Given the description of an element on the screen output the (x, y) to click on. 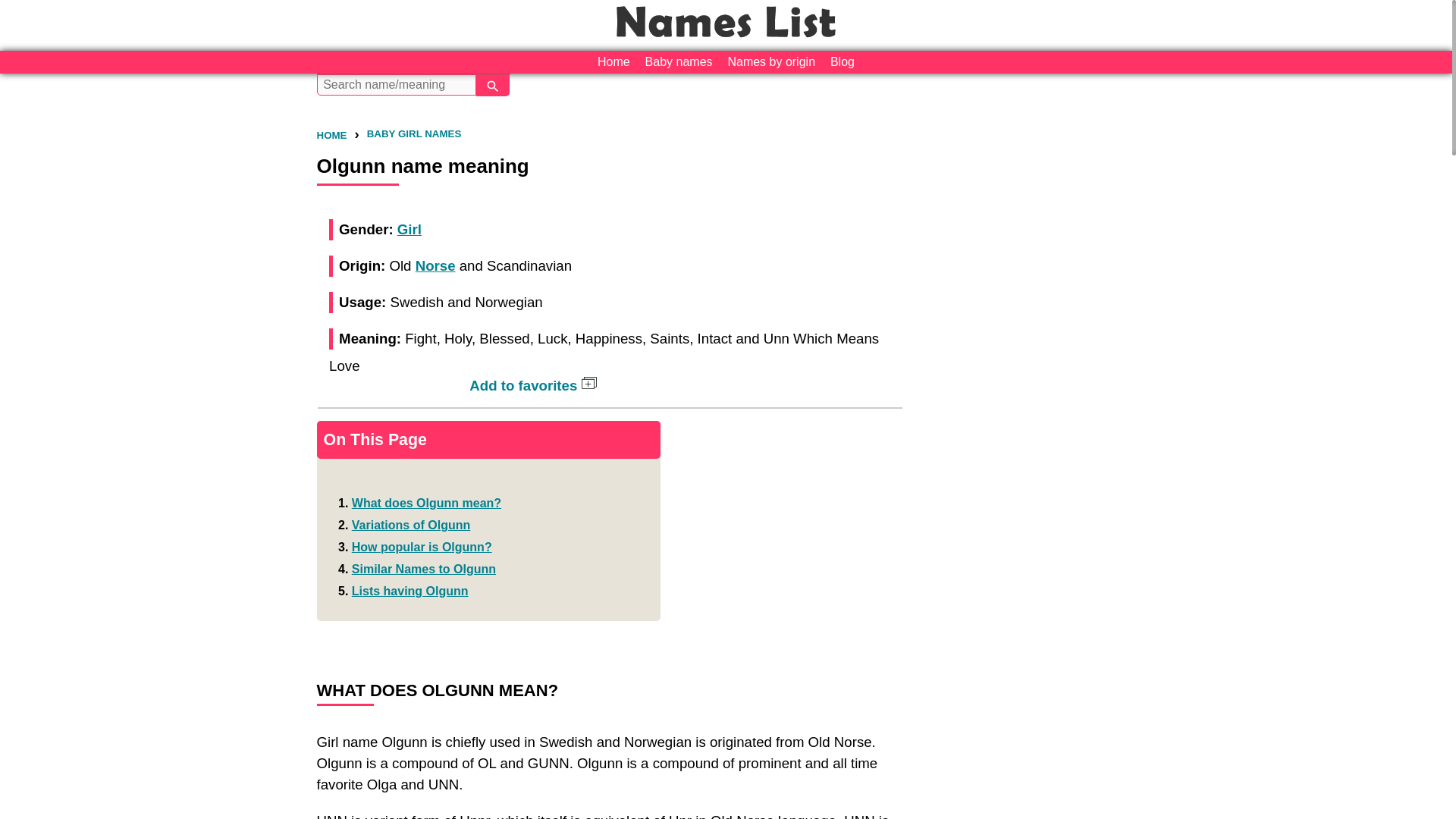
How popular is Olgunn? (422, 546)
What does Olgunn mean? (426, 502)
BABY GIRL NAMES (413, 133)
Names by origin (770, 61)
Similar Names to Olgunn (424, 568)
Baby names (679, 61)
Girl (409, 229)
HOME (332, 134)
Home (613, 61)
Norse (434, 265)
Variations of Olgunn (411, 524)
Lists having Olgunn (410, 590)
Blog (842, 61)
